Given the description of an element on the screen output the (x, y) to click on. 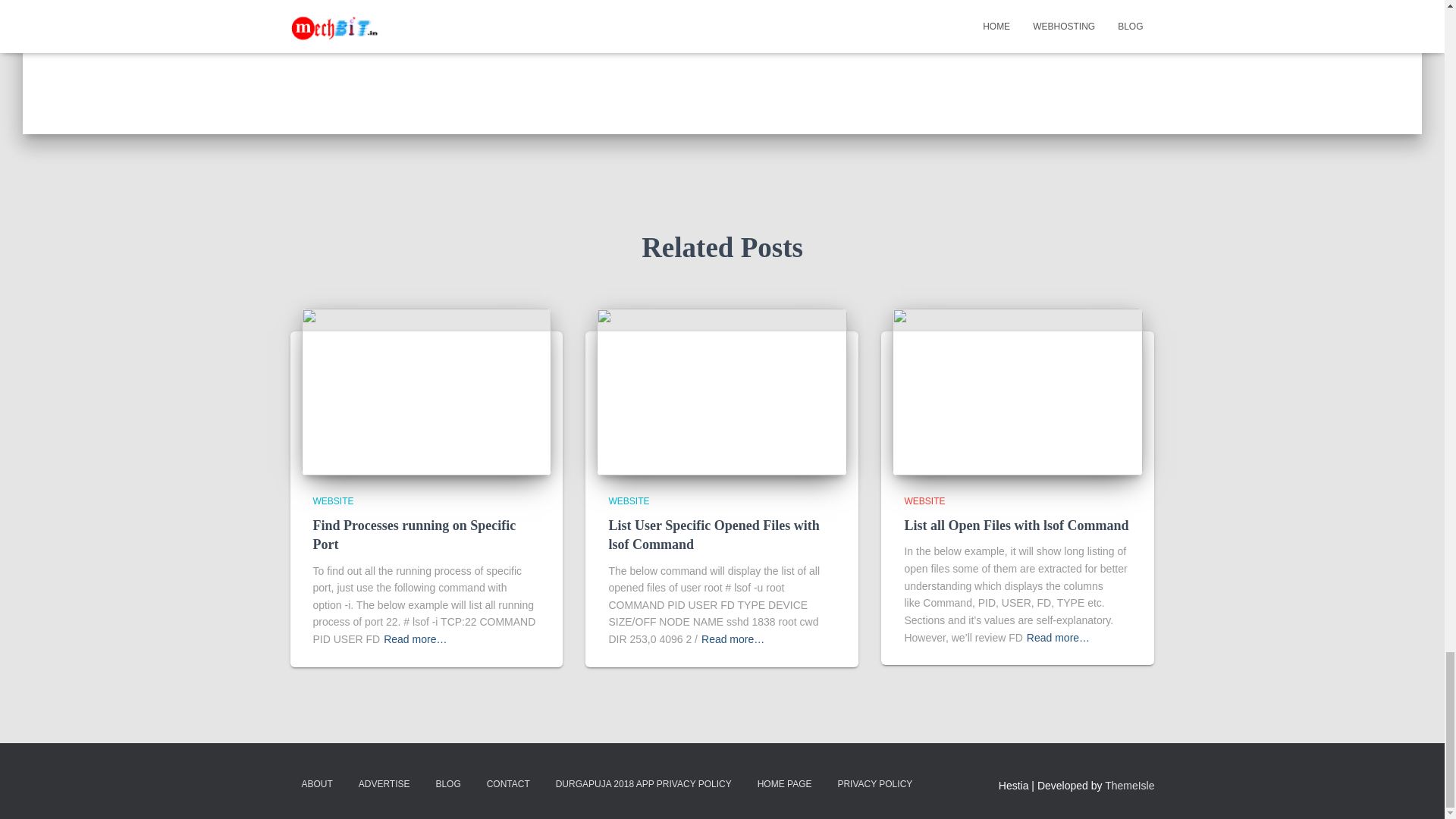
Post Comment (796, 10)
Post Comment (796, 10)
